Given the description of an element on the screen output the (x, y) to click on. 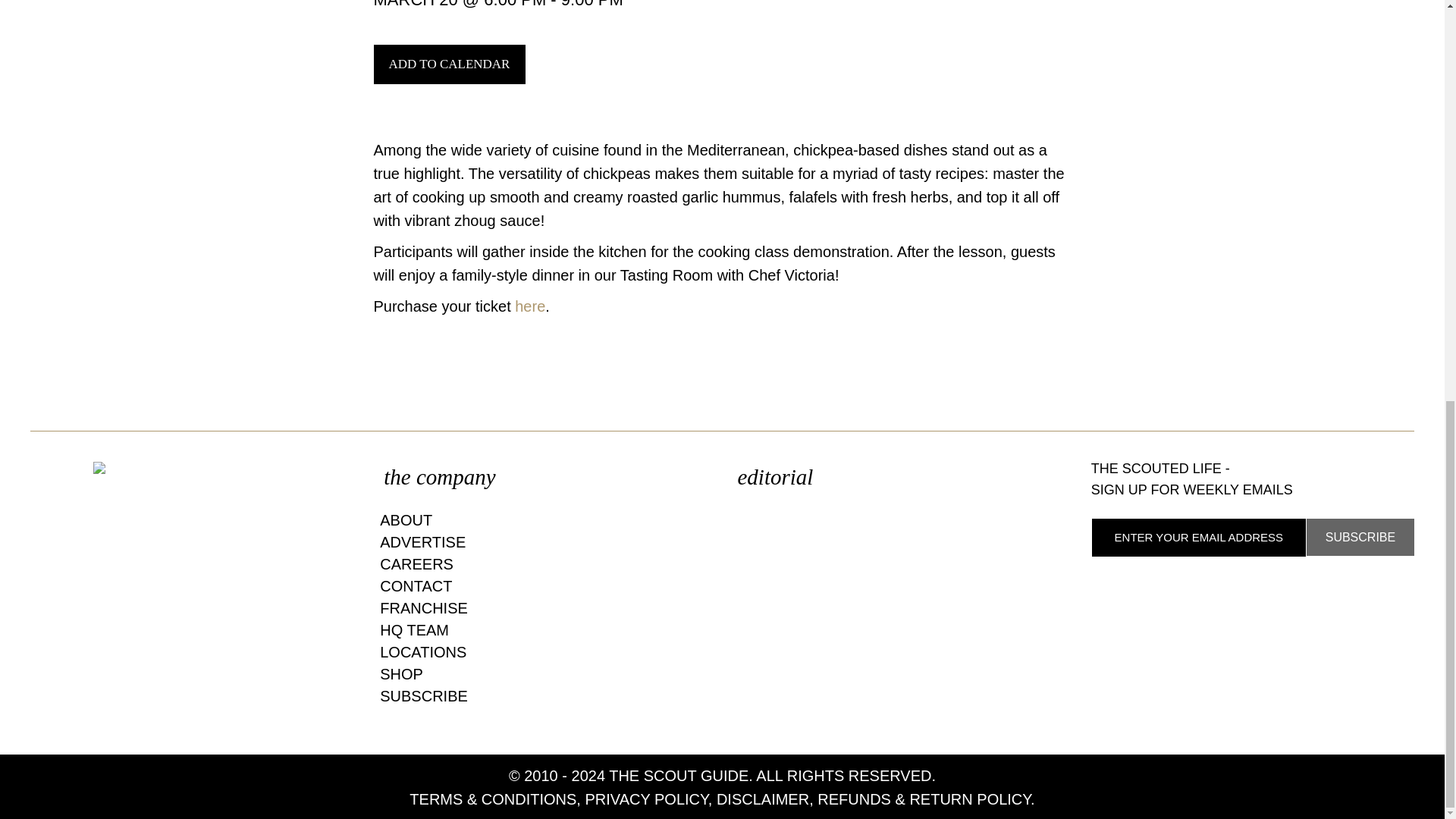
ADD TO CALENDAR (449, 64)
The Scout Guide Icon Logo (191, 467)
Subscribe (1359, 537)
